Given the description of an element on the screen output the (x, y) to click on. 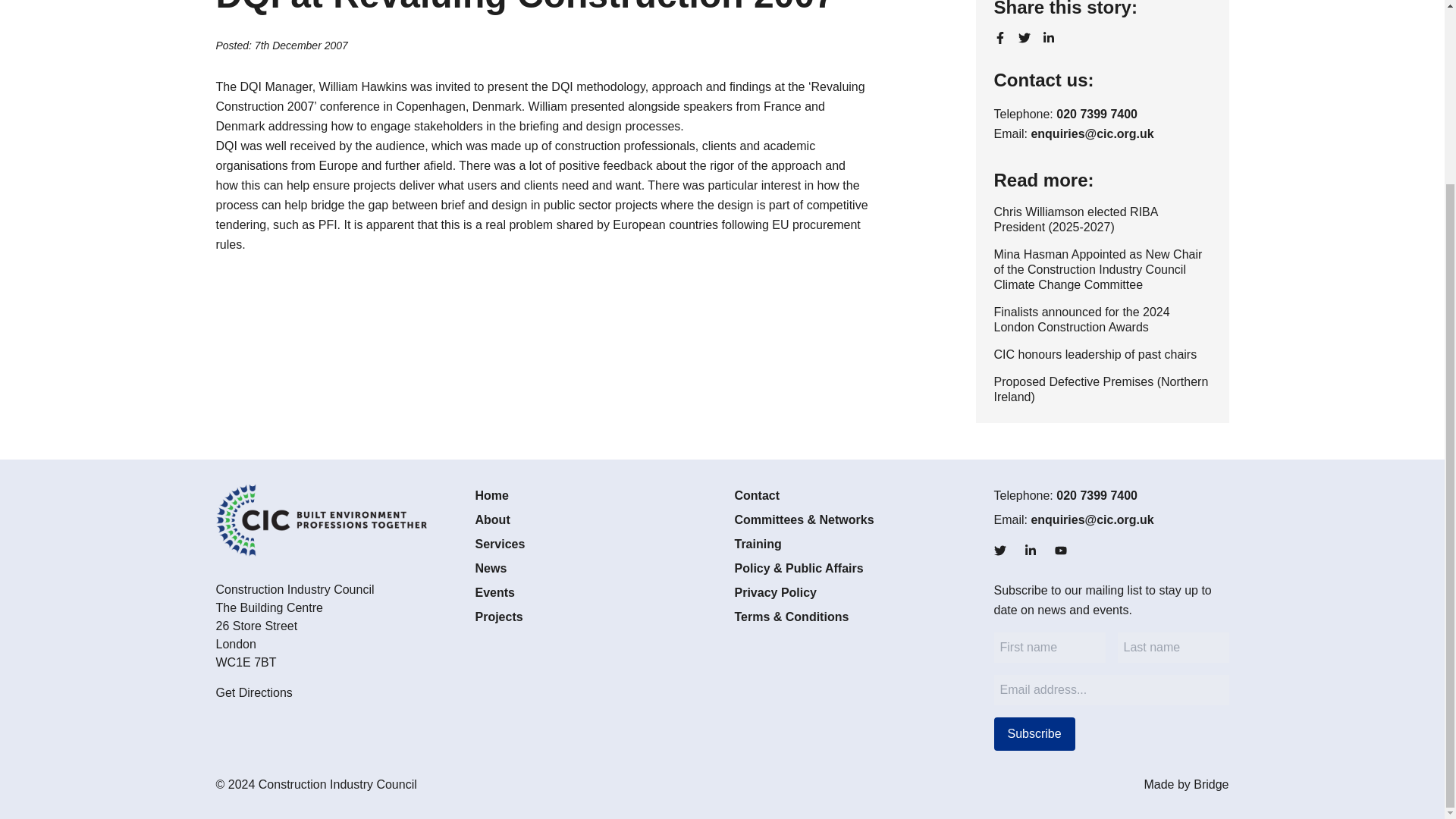
Share on Twitter (1023, 37)
Share on LinkedIn (1048, 37)
Share on Facebook (999, 37)
